Given the description of an element on the screen output the (x, y) to click on. 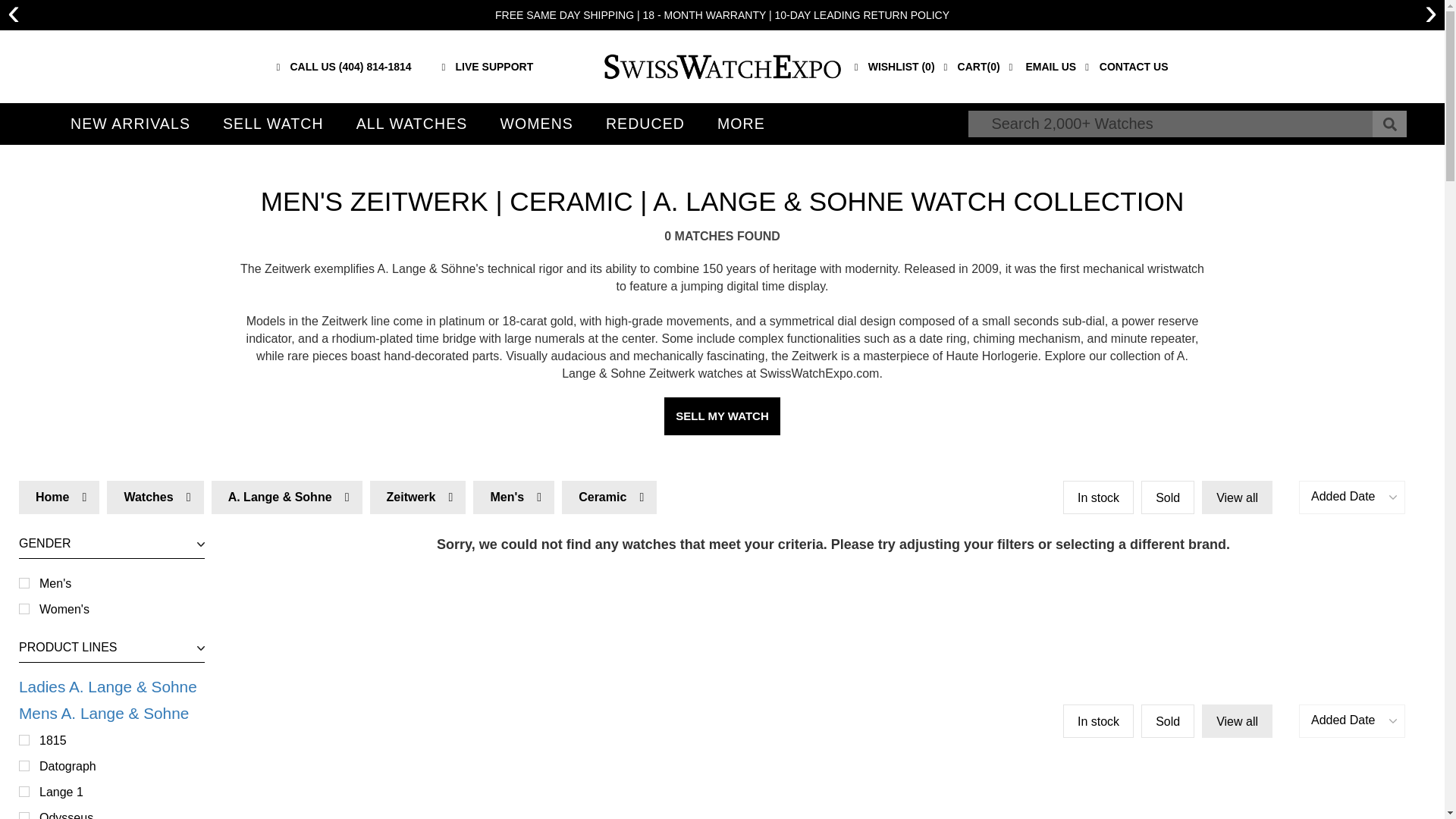
Added Date (1351, 720)
Search (1389, 123)
Added Date (1351, 497)
Search (1389, 123)
Previous (13, 15)
EMAIL US (1043, 66)
CONTACT US (1125, 66)
LIVE SUPPORT (111, 596)
NEW ARRIVALS (488, 66)
